Given the description of an element on the screen output the (x, y) to click on. 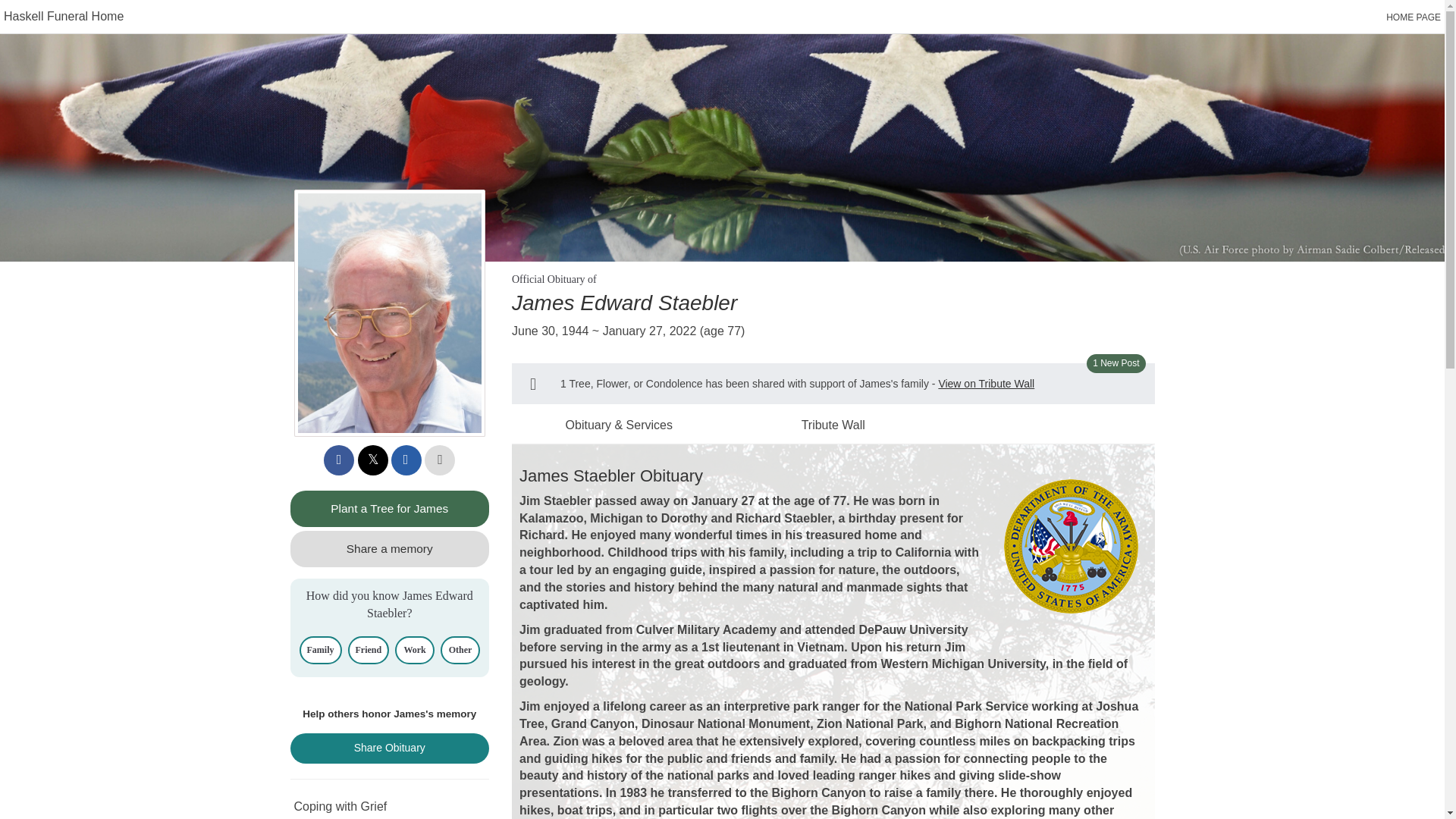
Share to Facebook (338, 460)
Plant a Tree for James (389, 508)
HOME PAGE (1413, 17)
Share Obituary (389, 748)
Share on X (373, 460)
Printable copy (439, 460)
Share via email (406, 460)
Haskell Funeral Home (63, 15)
View on Tribute Wall (985, 383)
Share a memory (389, 548)
